Given the description of an element on the screen output the (x, y) to click on. 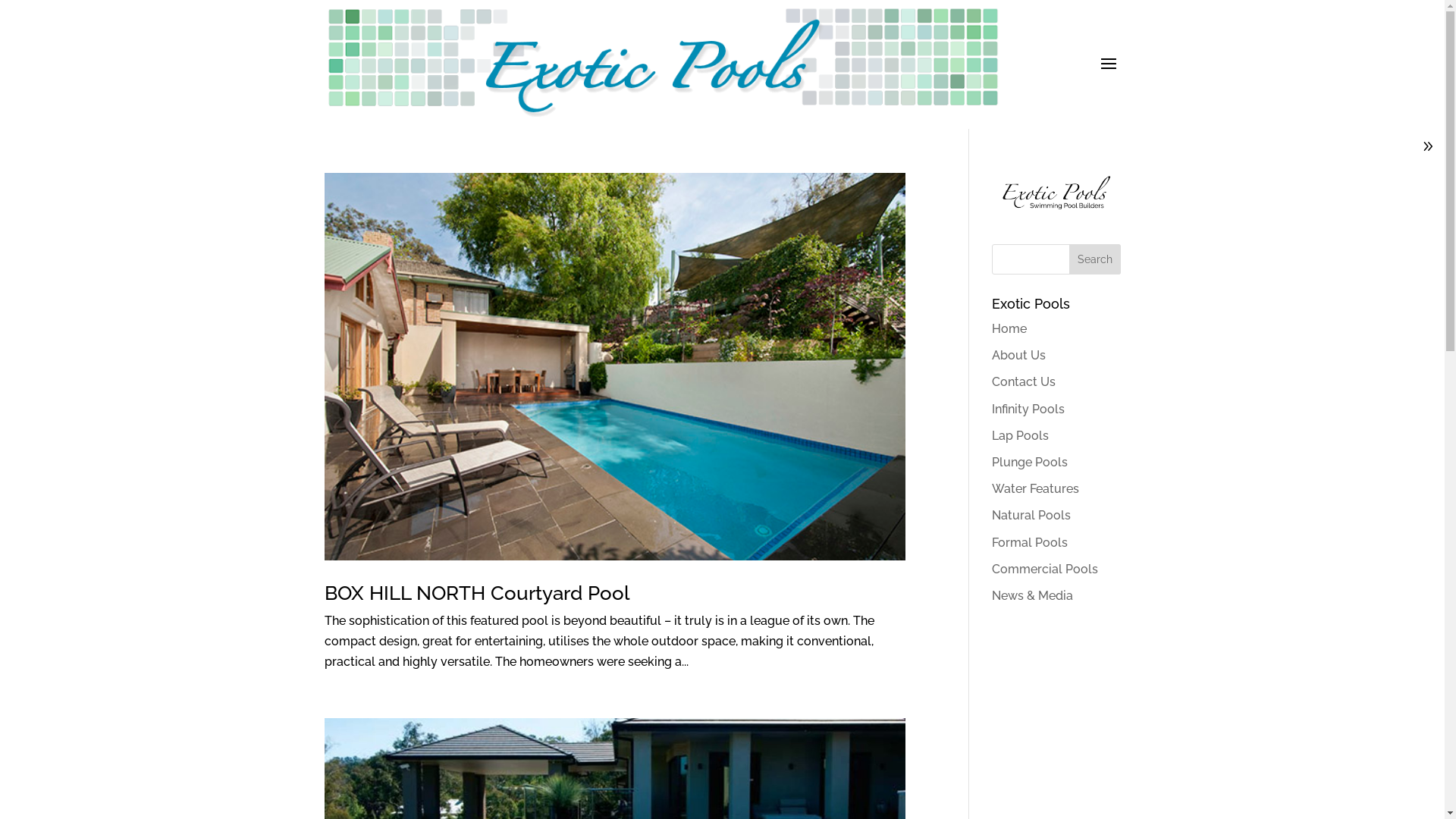
Home Element type: text (1008, 328)
Search Element type: text (1094, 259)
Formal Pools Element type: text (1029, 542)
Toggle Sidebar Element type: hover (1427, 148)
Commercial Pools Element type: text (1044, 568)
Natural Pools Element type: text (1030, 515)
BOX HILL NORTH Courtyard Pool Element type: text (476, 592)
Water Features Element type: text (1035, 488)
About Us Element type: text (1018, 355)
Plunge Pools Element type: text (1029, 462)
Lap Pools Element type: text (1019, 435)
Infinity Pools Element type: text (1027, 408)
Contact Us Element type: text (1023, 381)
News & Media Element type: text (1032, 595)
